Given the description of an element on the screen output the (x, y) to click on. 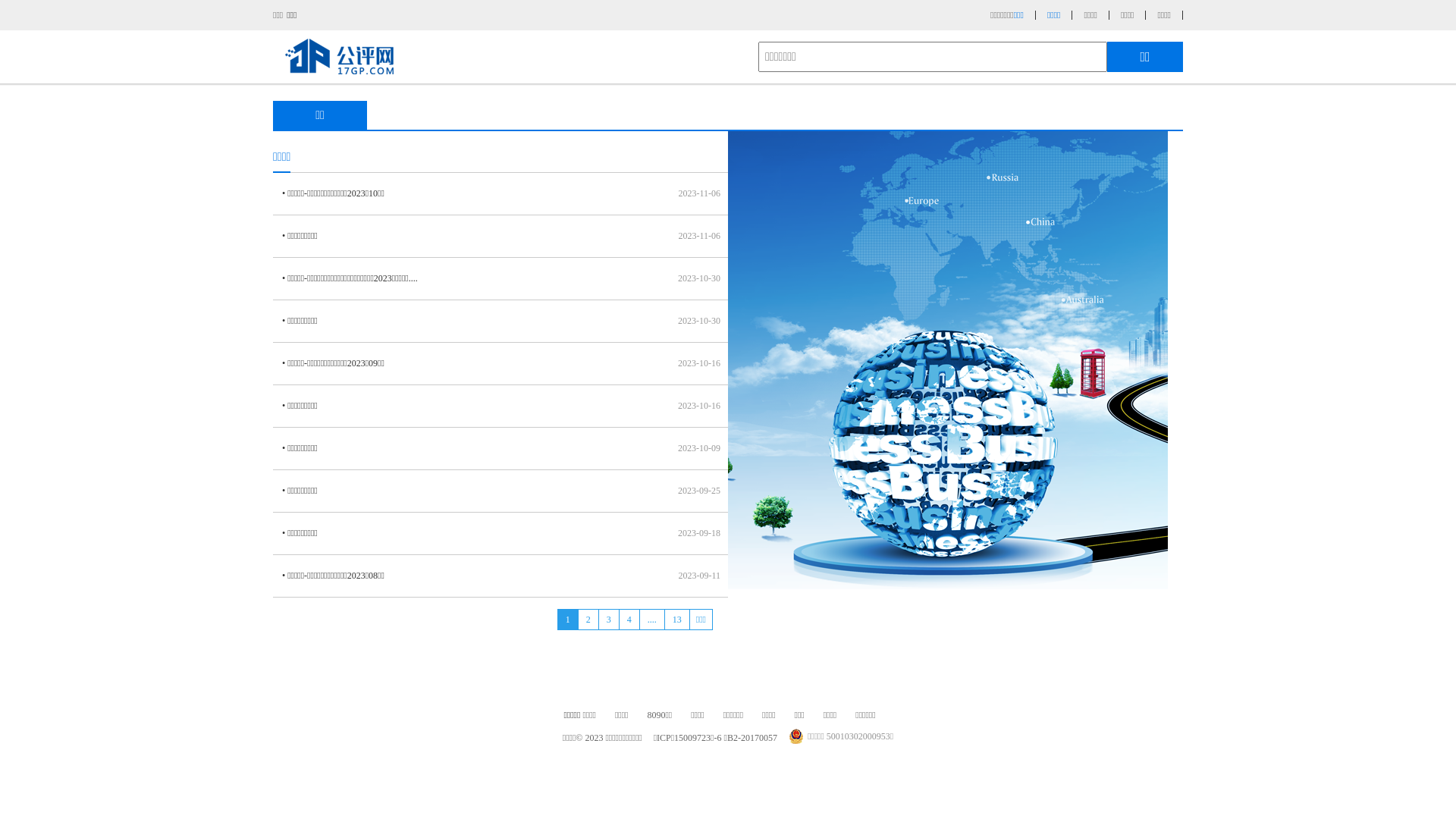
.... Element type: text (651, 619)
13 Element type: text (676, 619)
4 Element type: text (628, 619)
3 Element type: text (608, 619)
1 Element type: text (567, 619)
2 Element type: text (587, 619)
